Given the description of an element on the screen output the (x, y) to click on. 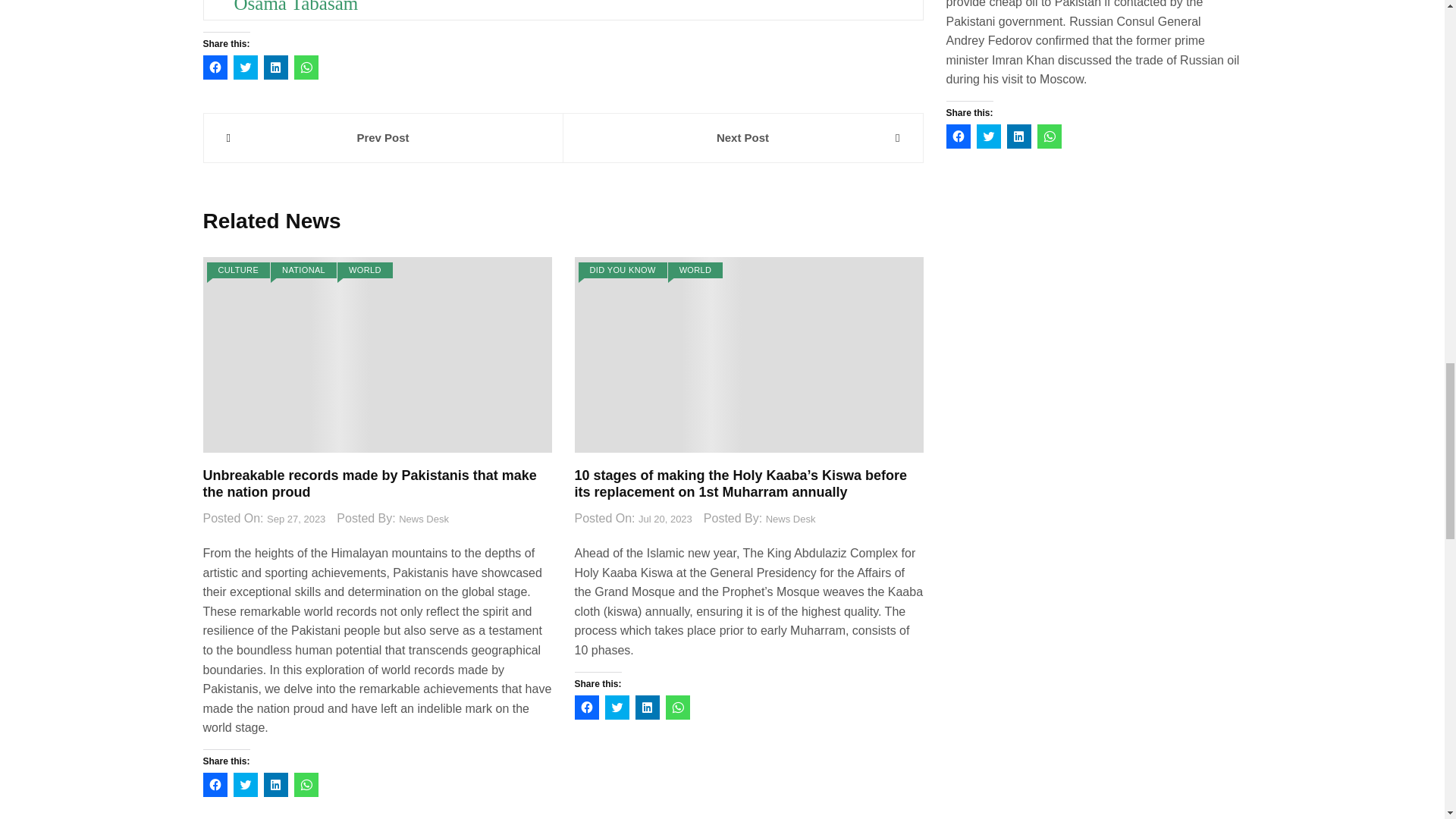
Click to share on WhatsApp (306, 67)
CULTURE (237, 270)
Click to share on Twitter (244, 67)
Click to share on Twitter (244, 784)
Next Post (742, 137)
Click to share on LinkedIn (275, 784)
Click to share on Facebook (215, 67)
Osama Tabasam (295, 6)
Click to share on WhatsApp (306, 784)
Click to share on LinkedIn (275, 67)
